Given the description of an element on the screen output the (x, y) to click on. 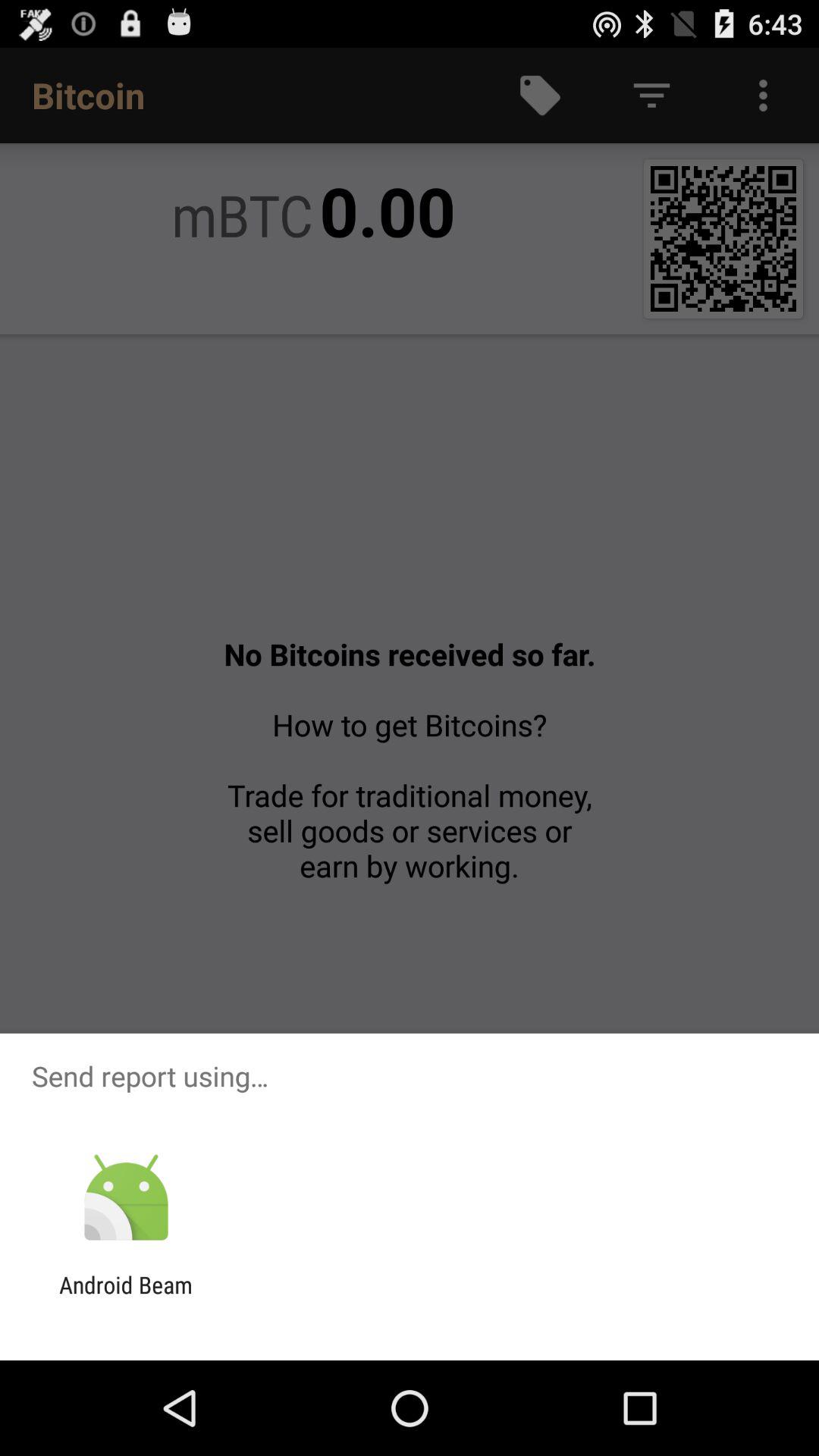
open android beam app (125, 1298)
